Given the description of an element on the screen output the (x, y) to click on. 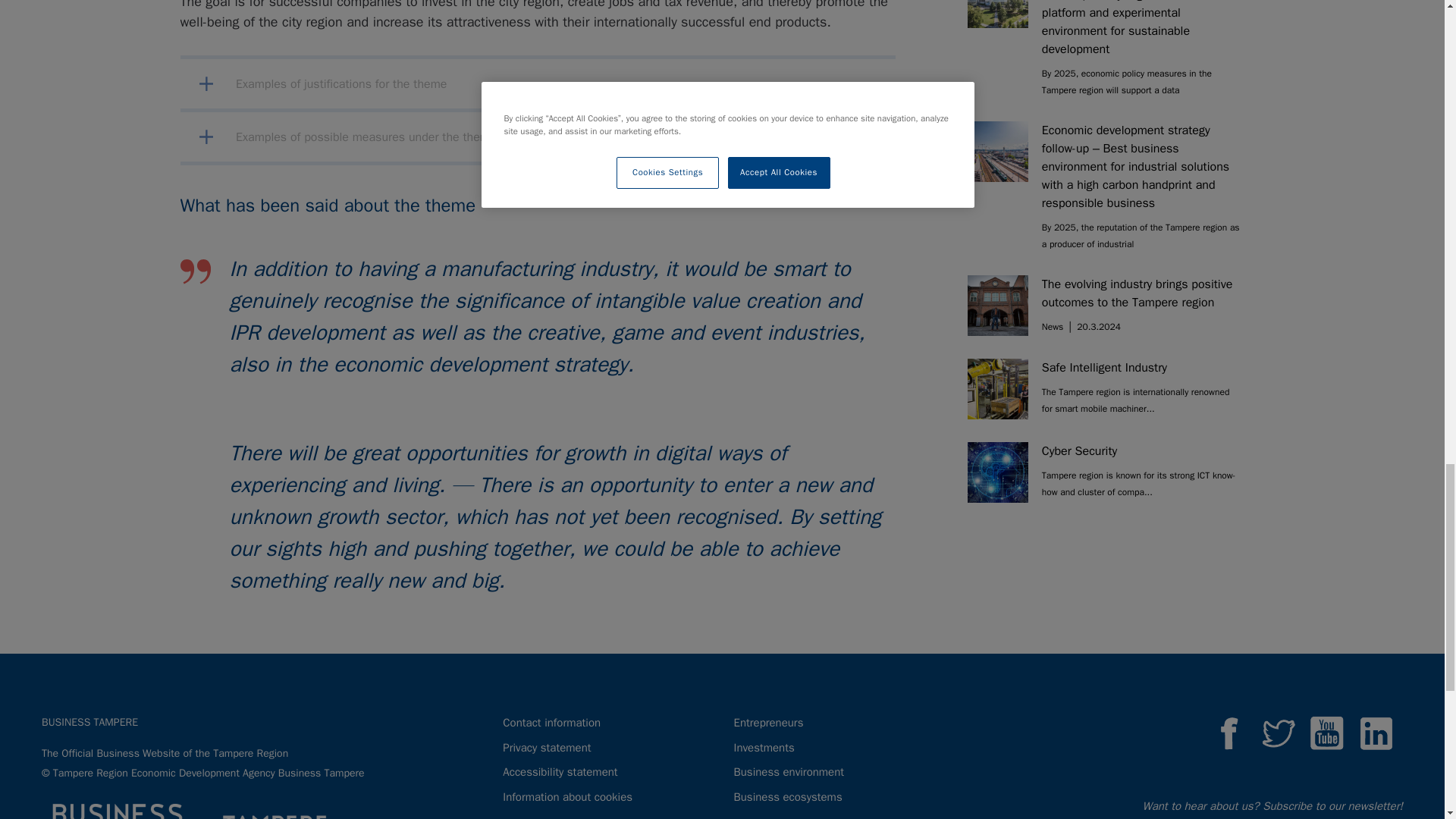
Examples of justifications for the theme (537, 81)
Examples of possible measures under the theme (537, 136)
Tampere Finland logo white (283, 809)
Innovaatioseteli Business Tampere White XL (117, 811)
